Given the description of an element on the screen output the (x, y) to click on. 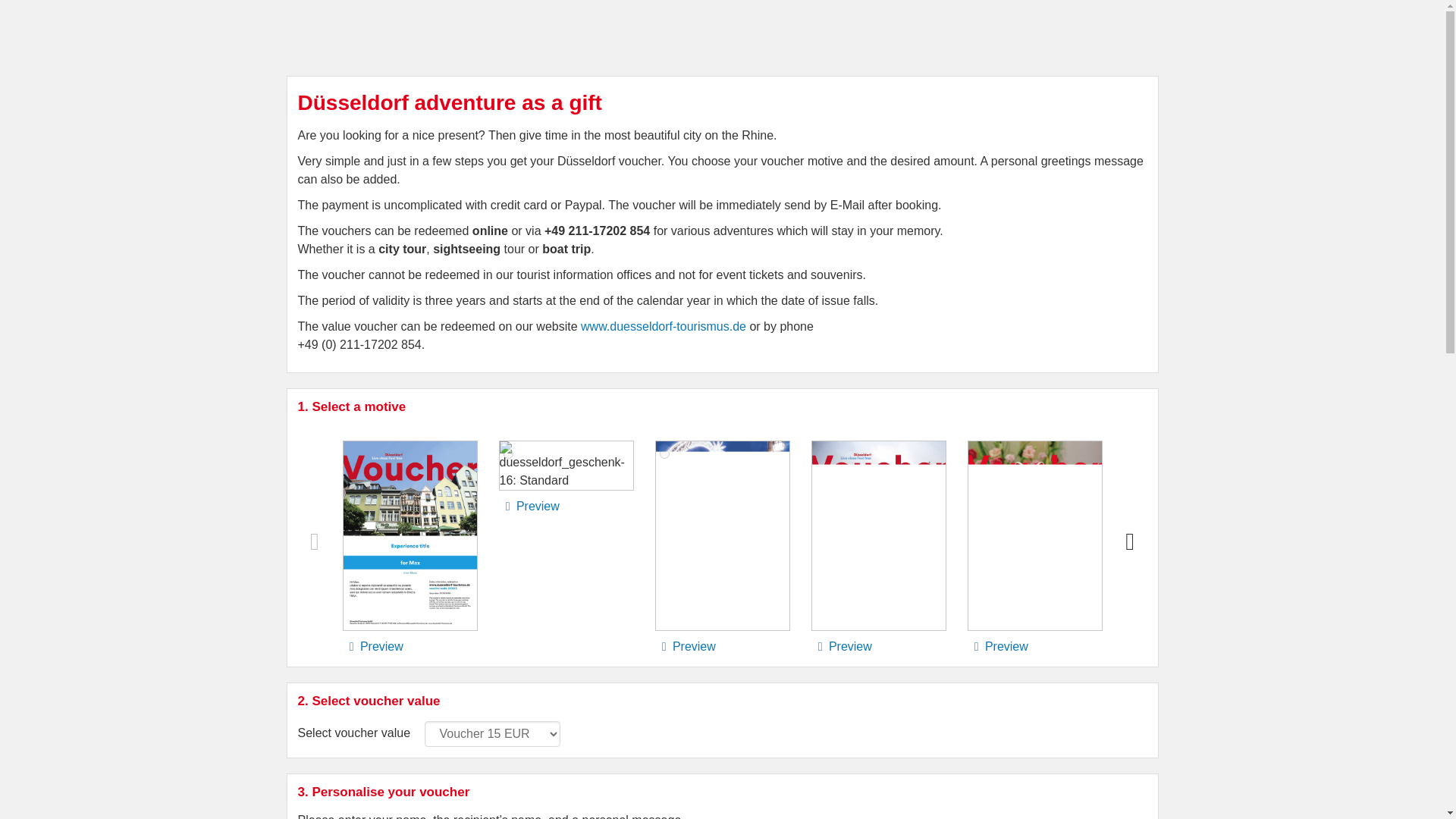
Preview (684, 645)
Preview (372, 645)
www.duesseldorf-tourismus.de (662, 326)
Preview (840, 645)
Preview (529, 505)
Preview (997, 645)
